Given the description of an element on the screen output the (x, y) to click on. 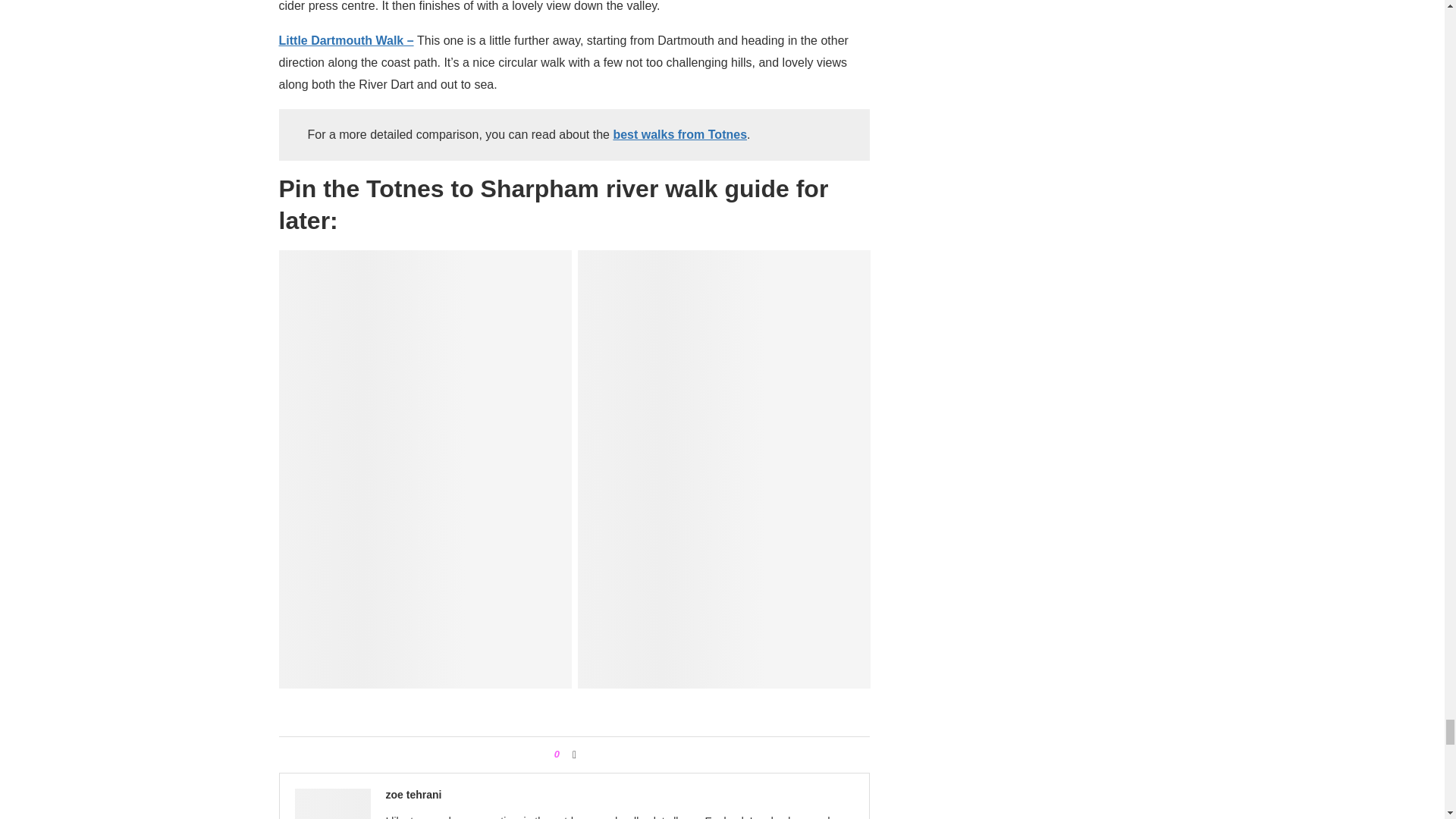
Author zoe tehrani (413, 794)
